Given the description of an element on the screen output the (x, y) to click on. 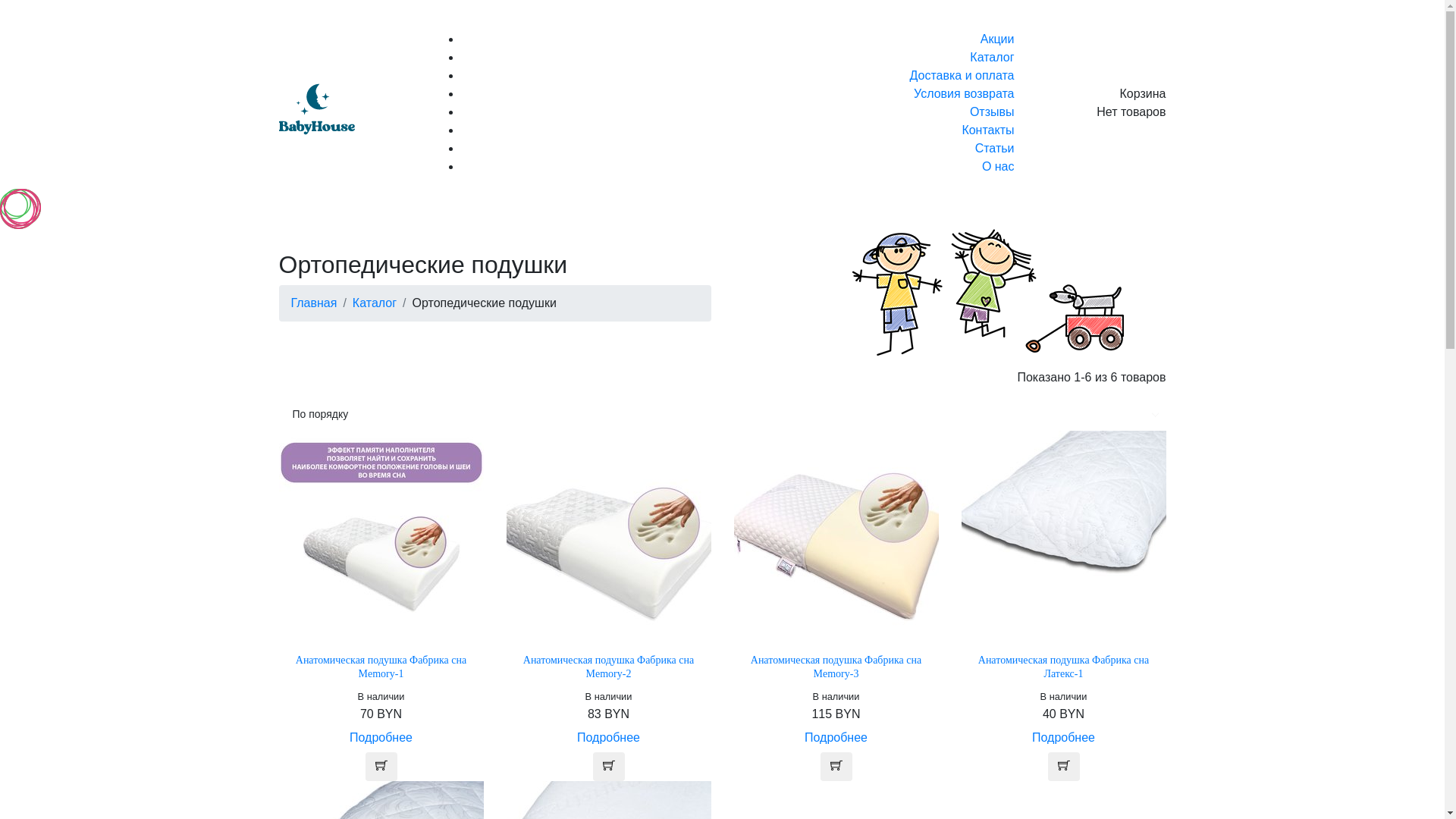
+375(33)322-23-13 Element type: text (1103, 14)
